Given the description of an element on the screen output the (x, y) to click on. 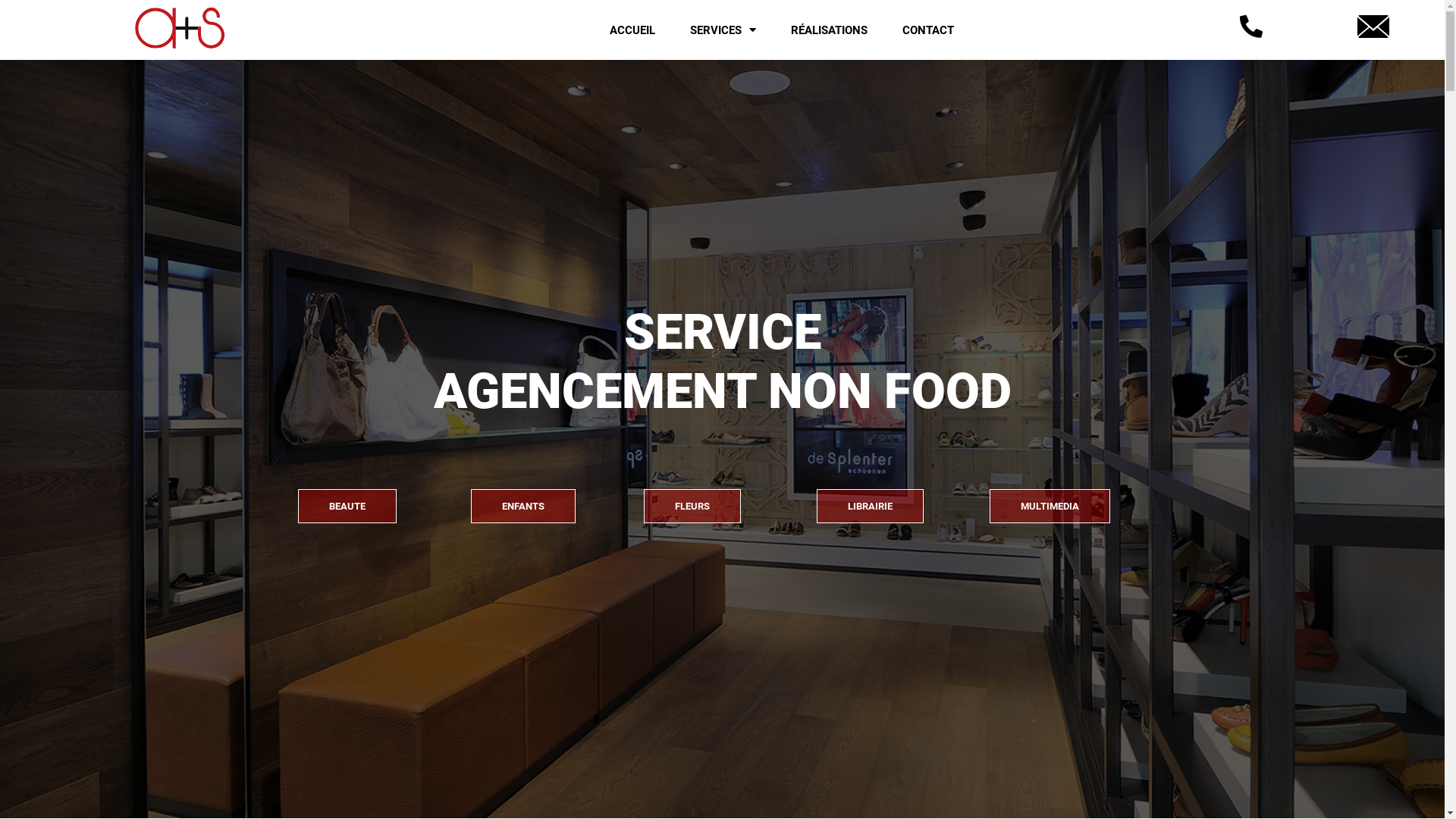
ACCUEIL Element type: text (632, 29)
LIBRAIRIE Element type: text (868, 505)
MULTIMEDIA Element type: text (1048, 505)
BEAUTE Element type: text (346, 505)
SERVICES Element type: text (722, 29)
ENFANTS Element type: text (522, 505)
CONTACT Element type: text (928, 29)
FLEURS Element type: text (691, 505)
